Given the description of an element on the screen output the (x, y) to click on. 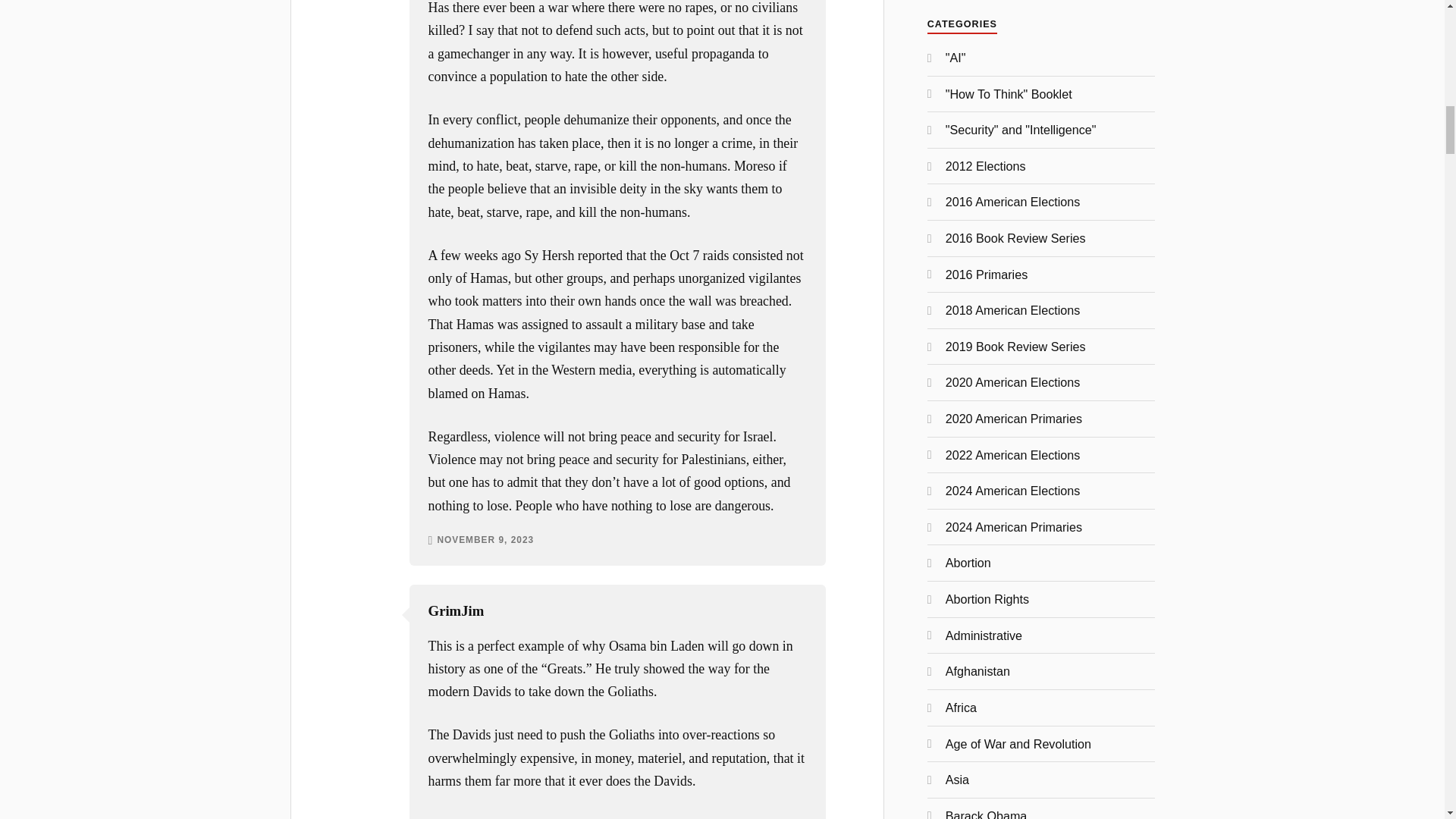
NOVEMBER 9, 2023 (485, 540)
